Given the description of an element on the screen output the (x, y) to click on. 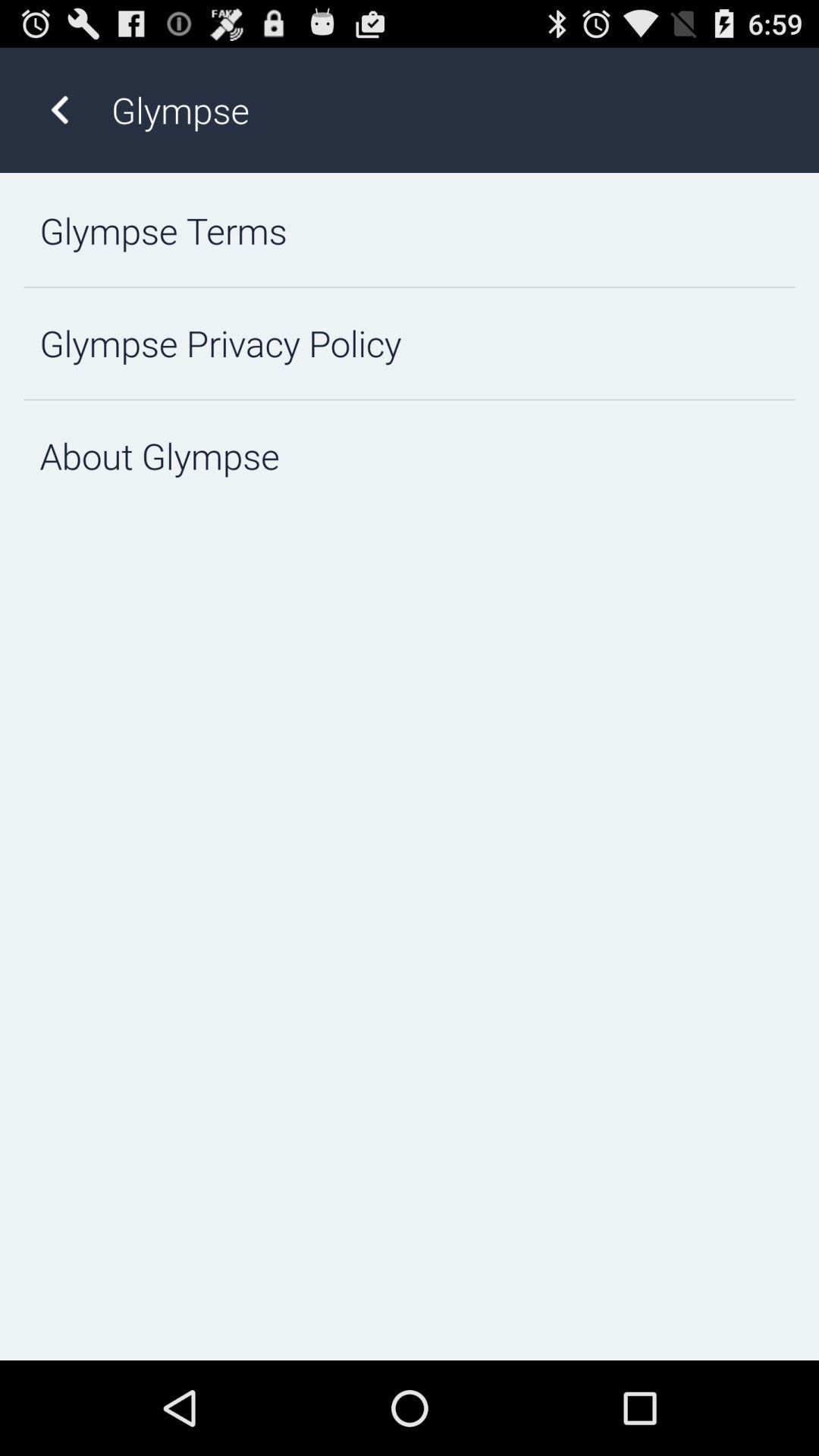
turn on the icon at the top left corner (59, 109)
